Given the description of an element on the screen output the (x, y) to click on. 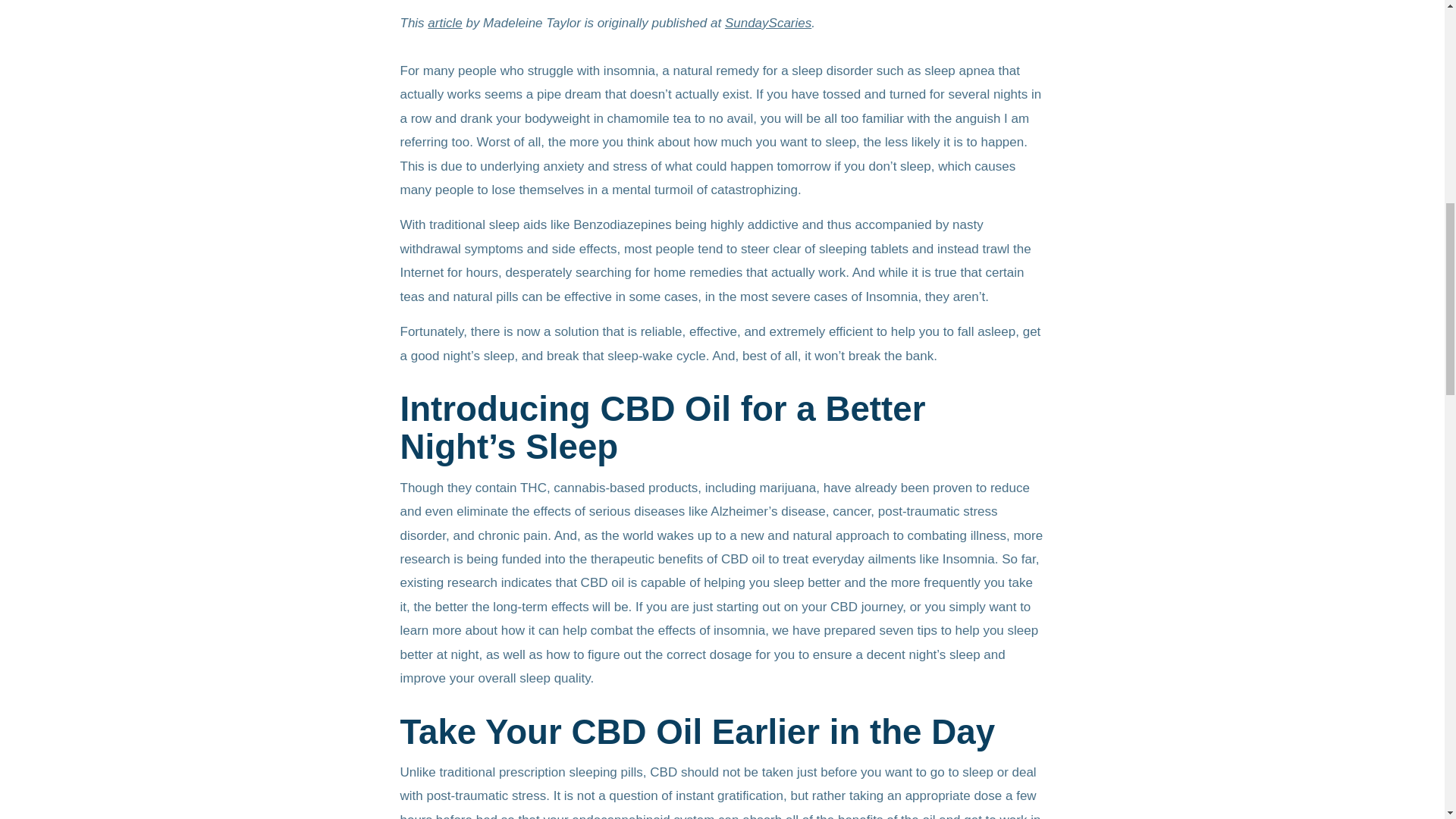
article (444, 22)
SundayScaries (767, 22)
